Given the description of an element on the screen output the (x, y) to click on. 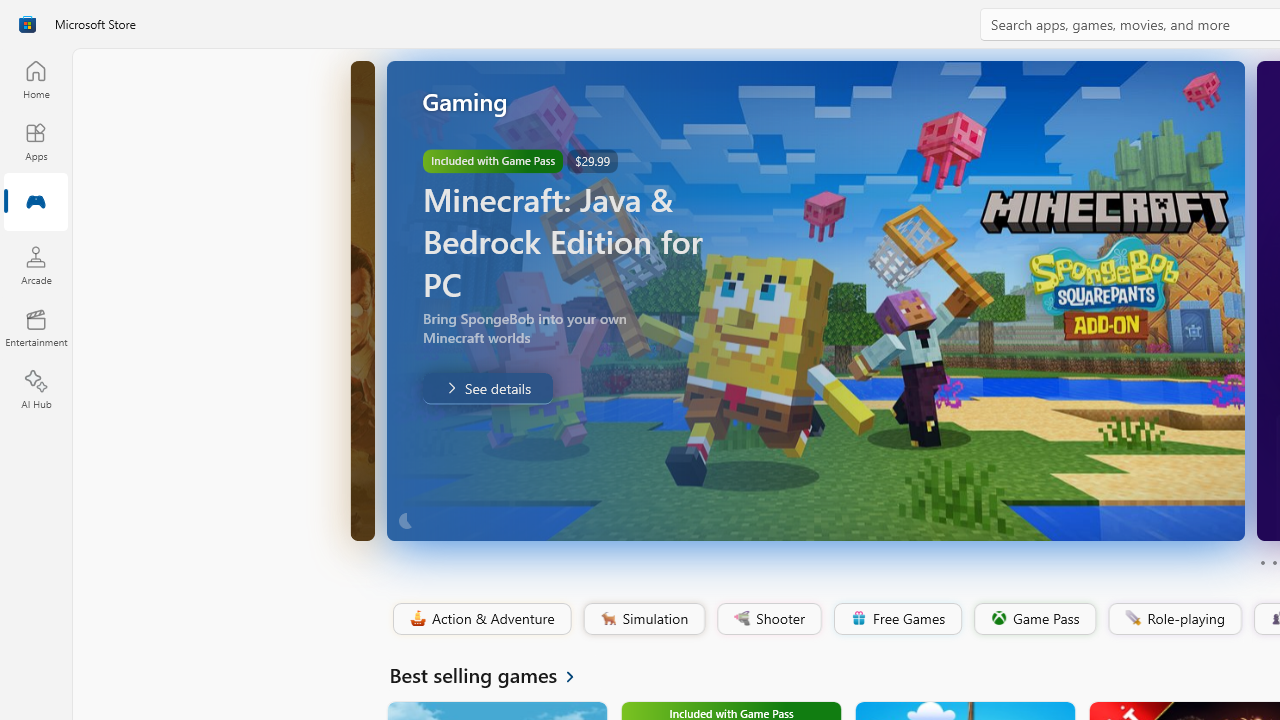
AutomationID: Image (815, 300)
Gaming (35, 203)
AI Hub (35, 390)
